Given the description of an element on the screen output the (x, y) to click on. 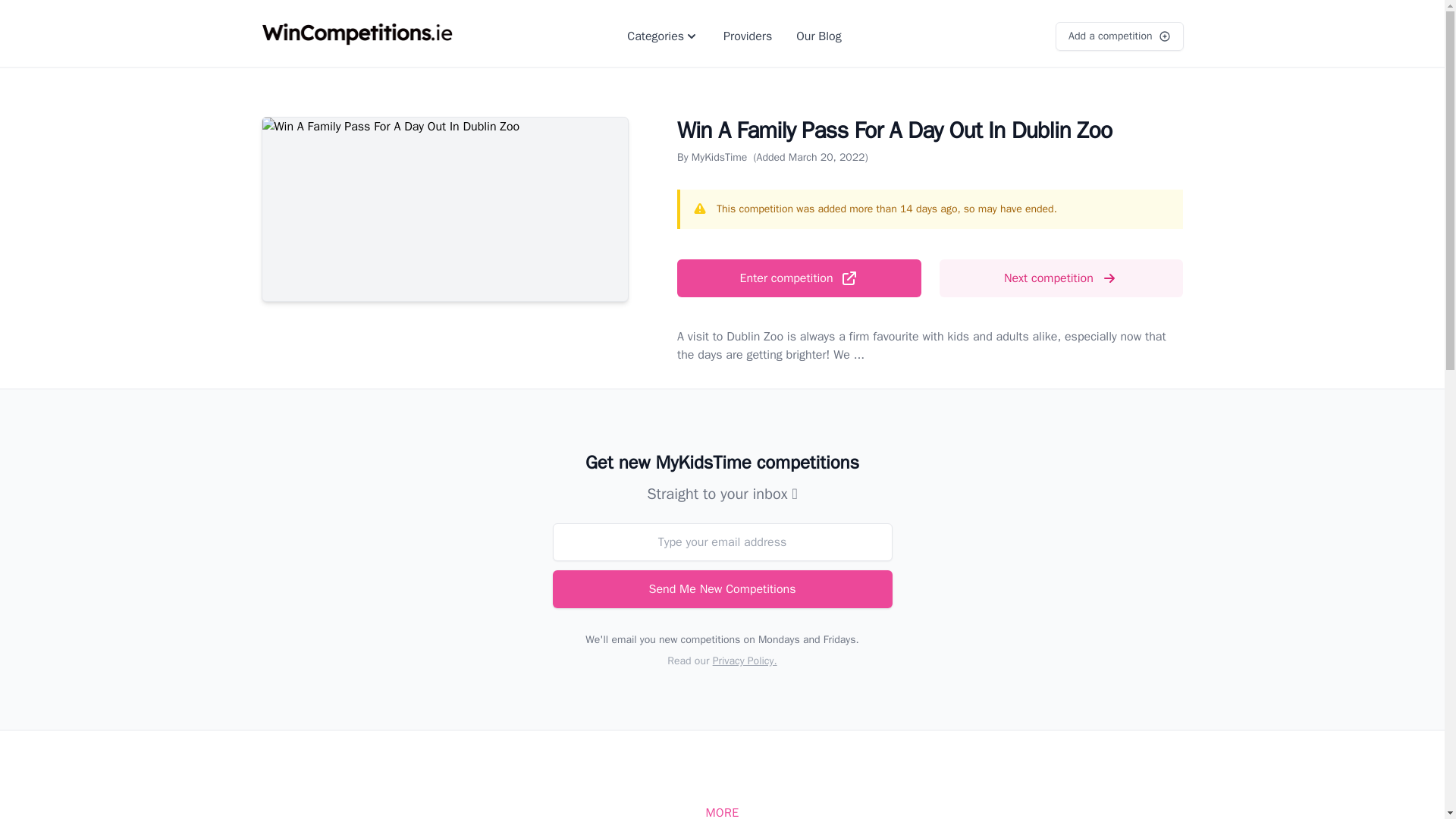
Win Competitions (355, 36)
Categories (662, 36)
Enter competition   (799, 278)
Next competition   (1061, 278)
Send Me New Competitions (721, 589)
MyKidsTime (719, 156)
Privacy Policy. (745, 660)
Add a competition (1118, 36)
